Given the description of an element on the screen output the (x, y) to click on. 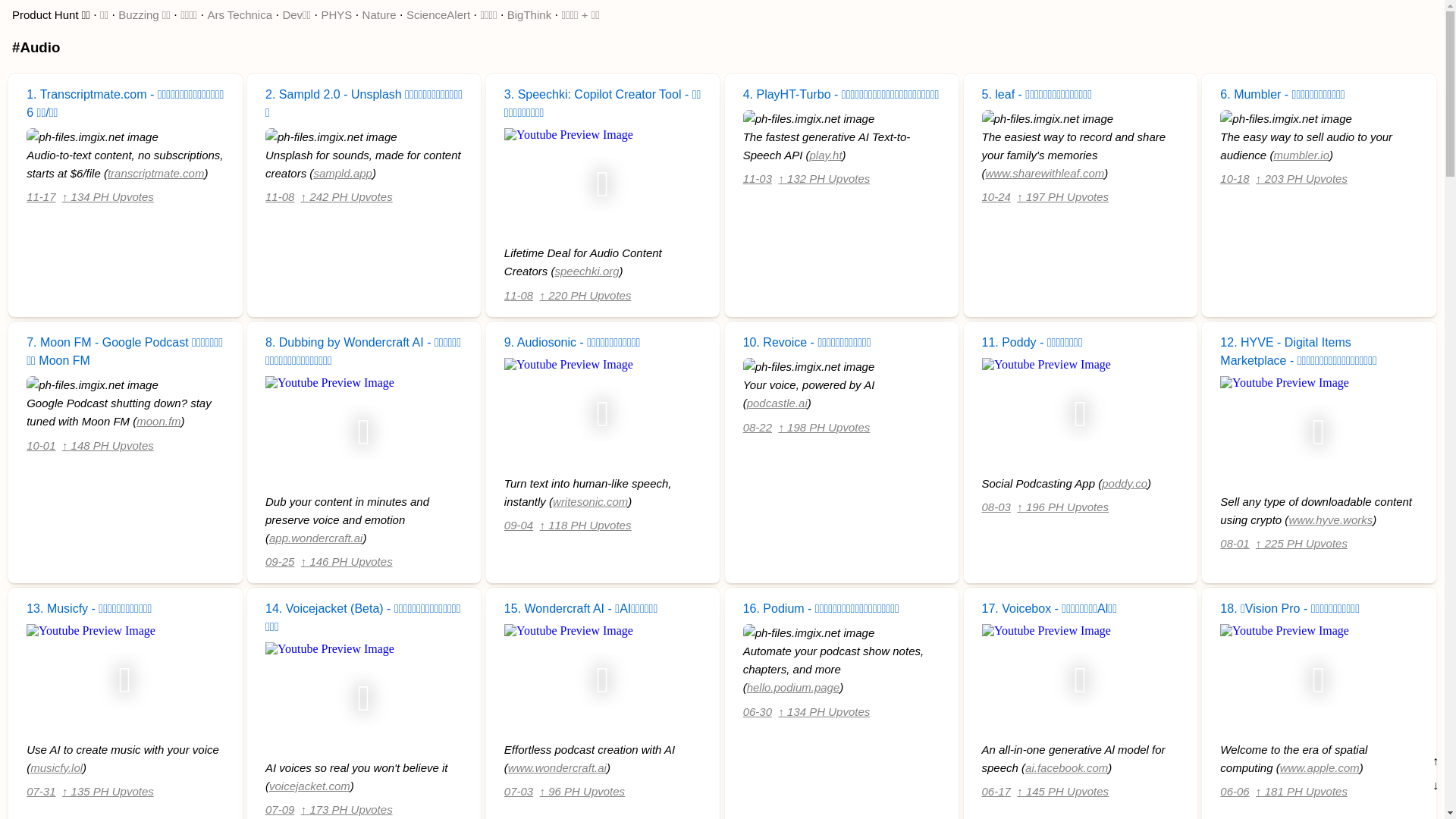
poddy.co Element type: text (1124, 482)
voicejacket.com Element type: text (309, 785)
musicfy.lol Element type: text (56, 767)
07-31 Element type: text (40, 790)
transcriptmate.com Element type: text (155, 172)
10-24 Element type: text (995, 196)
07-09 Element type: text (279, 809)
www.wondercraft.ai Element type: text (557, 767)
11-17 Element type: text (40, 196)
writesonic.com Element type: text (589, 500)
06-06 Element type: text (1234, 790)
11-08 Element type: text (279, 196)
speechki.org Element type: text (587, 270)
11-08 Element type: text (518, 294)
www.sharewithleaf.com Element type: text (1044, 172)
07-03 Element type: text (518, 790)
play.ht Element type: text (825, 154)
mumbler.io Element type: text (1301, 154)
PHYS Element type: text (335, 14)
BigThink Element type: text (529, 14)
09-04 Element type: text (518, 524)
app.wondercraft.ai Element type: text (315, 536)
09-25 Element type: text (279, 561)
moon.fm Element type: text (158, 420)
hello.podium.page Element type: text (793, 686)
06-30 Element type: text (757, 711)
06-17 Element type: text (995, 790)
podcastle.ai Element type: text (776, 402)
sampld.app Element type: text (342, 172)
ai.facebook.com Element type: text (1066, 767)
08-22 Element type: text (757, 426)
Ars Technica Element type: text (239, 14)
www.hyve.works Element type: text (1330, 518)
10-01 Element type: text (40, 444)
11-03 Element type: text (757, 178)
www.apple.com Element type: text (1319, 767)
Nature Element type: text (379, 14)
ScienceAlert Element type: text (438, 14)
10-18 Element type: text (1234, 178)
08-01 Element type: text (1234, 542)
08-03 Element type: text (995, 506)
